Given the description of an element on the screen output the (x, y) to click on. 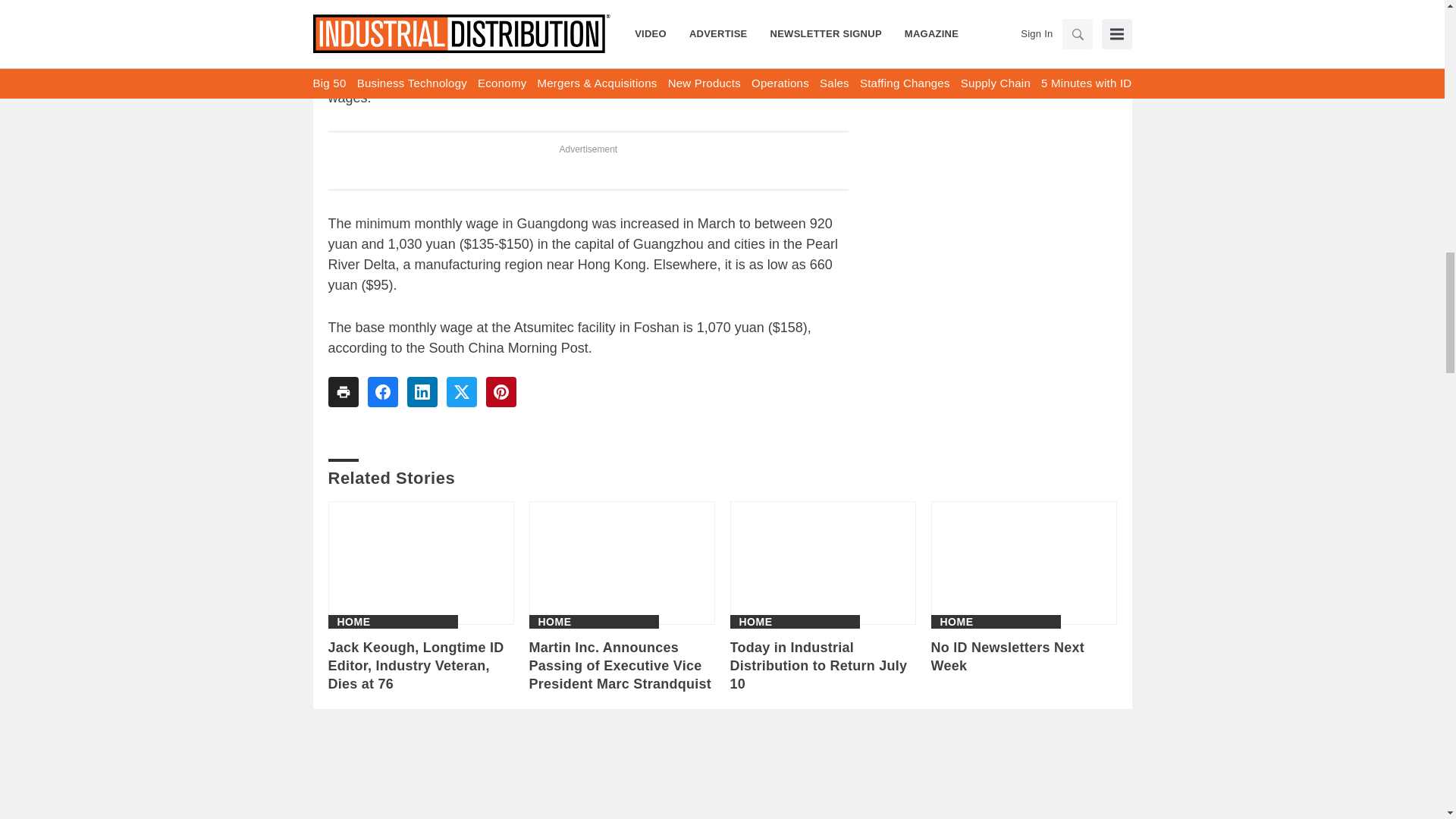
Share To print (342, 391)
Home (555, 621)
Share To facebook (381, 391)
Share To linkedin (421, 391)
Home (754, 621)
Home (352, 621)
Share To pinterest (499, 391)
Home (957, 621)
Share To twitter (460, 391)
